Given the description of an element on the screen output the (x, y) to click on. 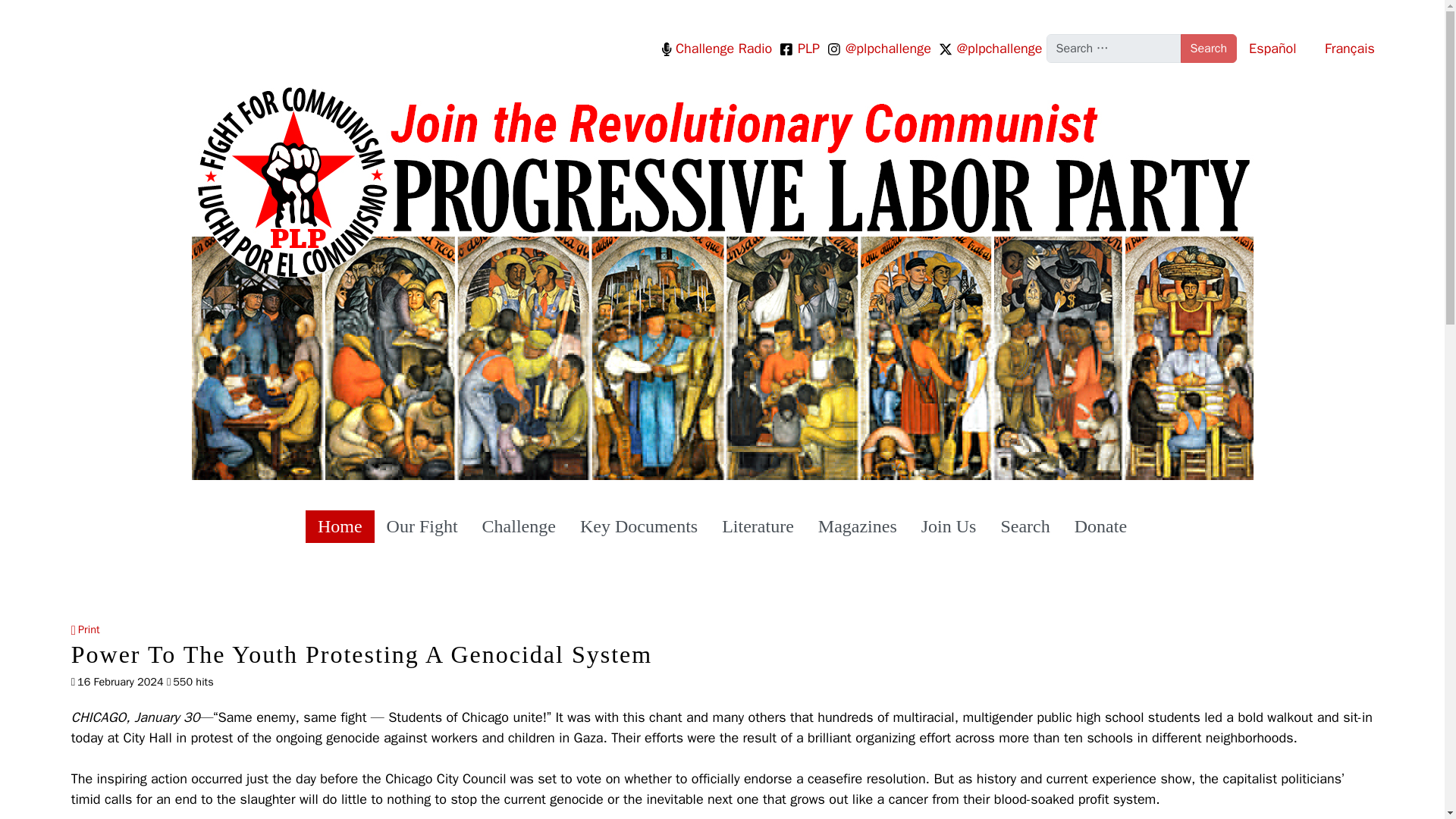
Literature (758, 526)
Join Us (948, 526)
Key Documents (638, 526)
Home (339, 526)
Magazines (857, 526)
Search (1207, 48)
Donate (1100, 526)
Print (85, 629)
Print (85, 629)
Challenge Radio (719, 47)
